Given the description of an element on the screen output the (x, y) to click on. 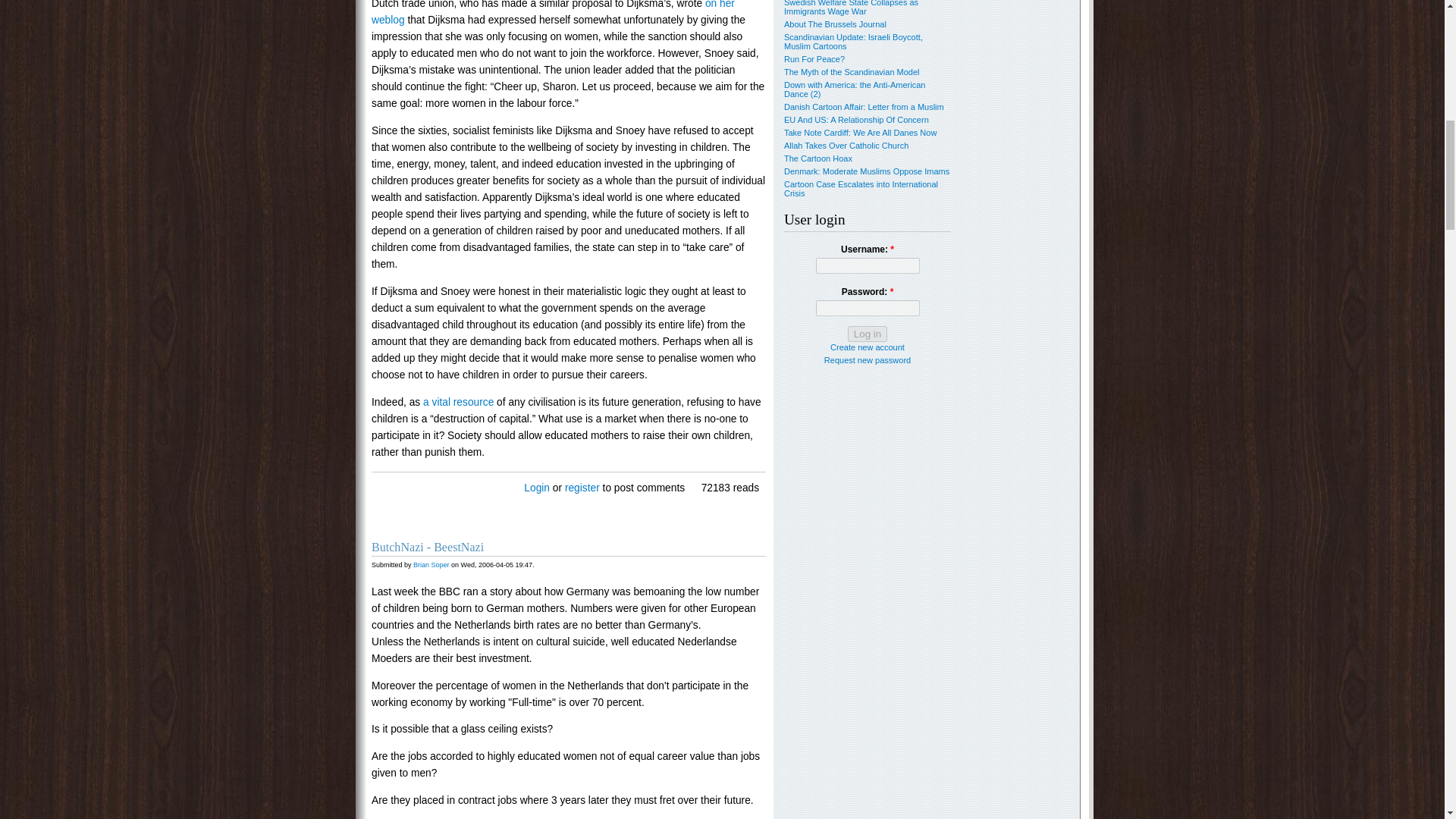
Brian Soper (431, 564)
on her weblog (553, 12)
Request new password via e-mail. (867, 359)
a vital resource (458, 401)
Log in (866, 333)
Login (537, 487)
register (581, 487)
Create a new user account. (866, 347)
ButchNazi - BeestNazi (427, 546)
